Given the description of an element on the screen output the (x, y) to click on. 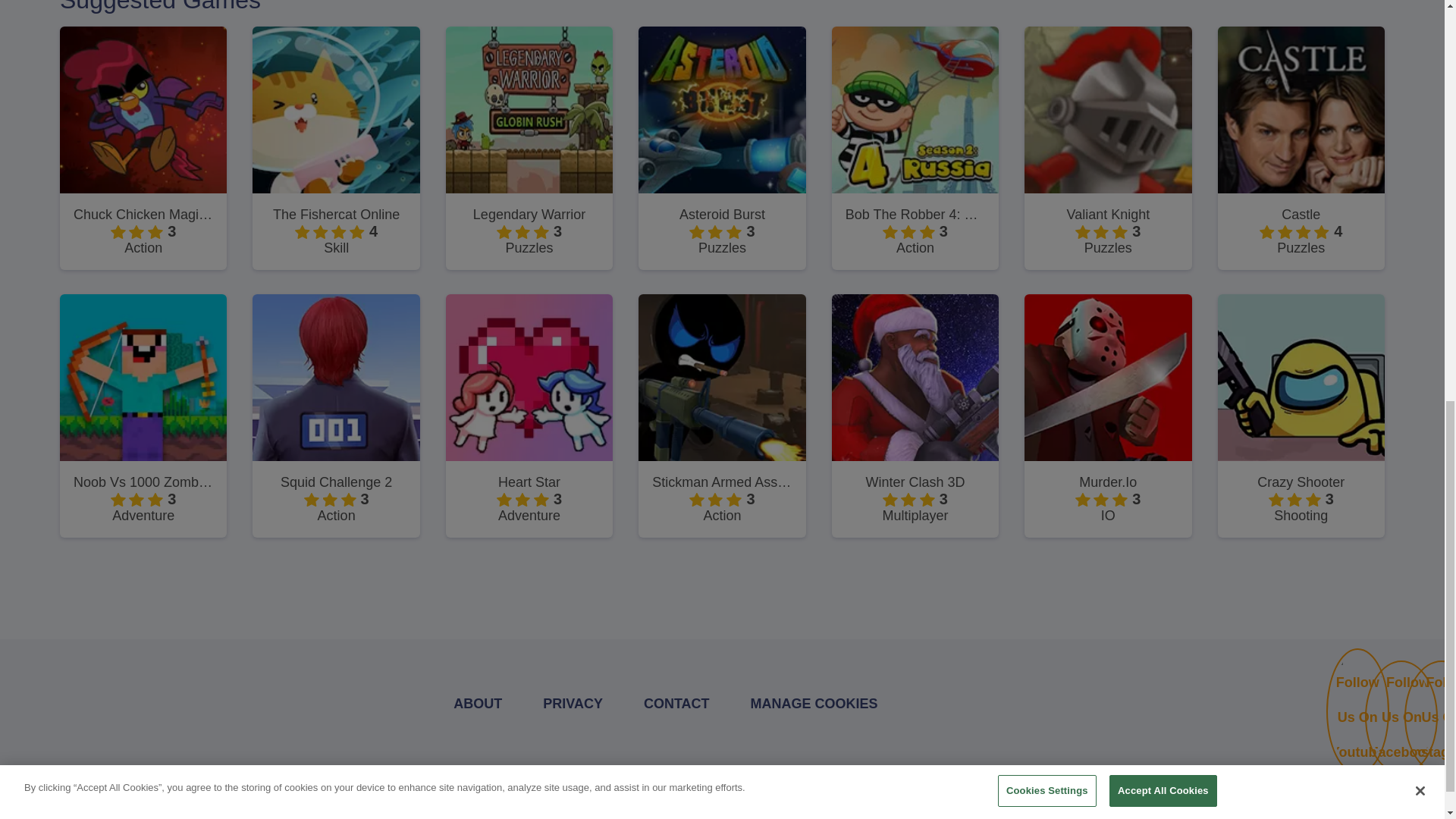
Chuck Chicken Magic Egg (143, 214)
The Fishercat Online (336, 214)
